Given the description of an element on the screen output the (x, y) to click on. 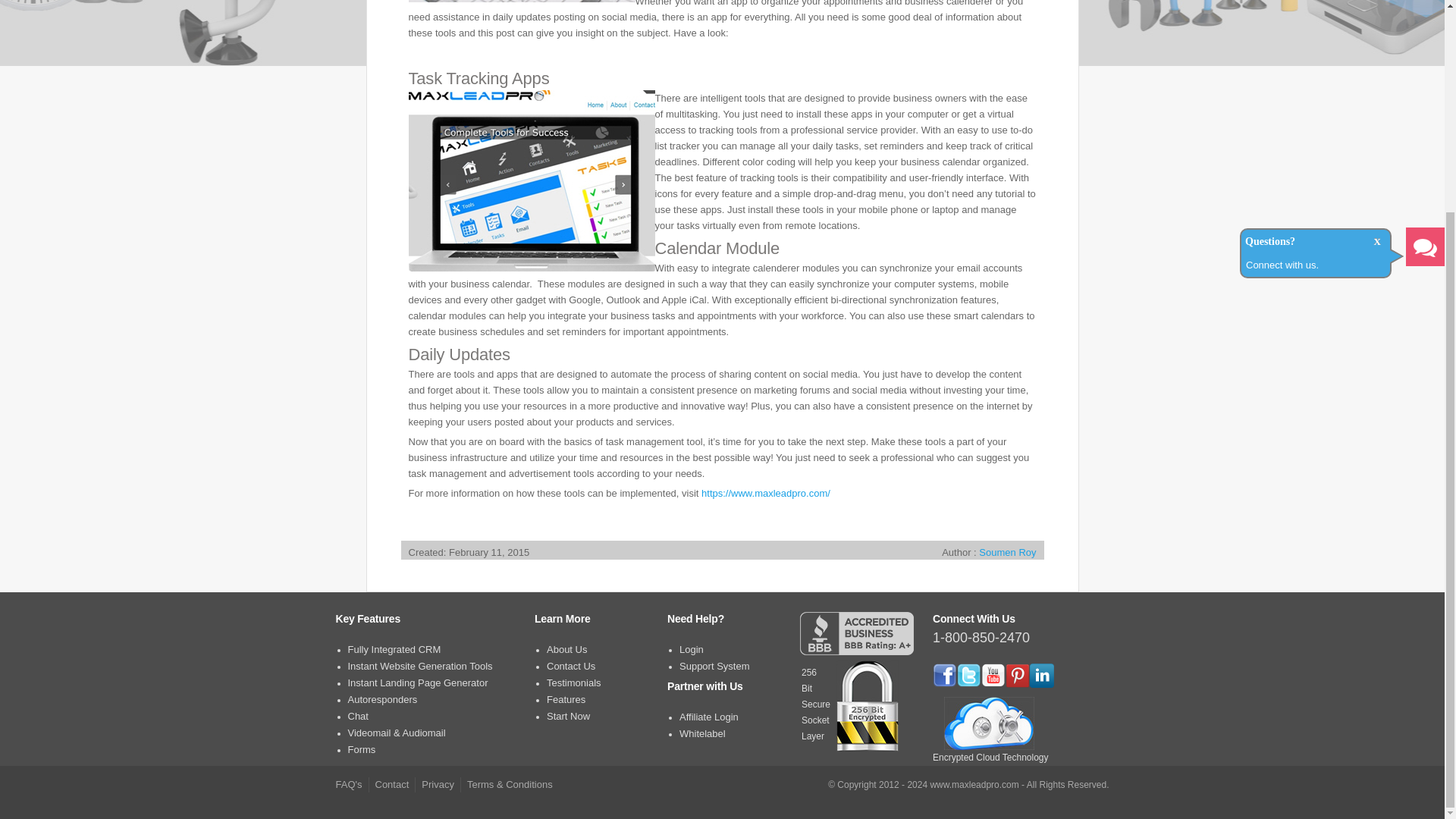
Instant Website Generation Tools (419, 665)
Forms (361, 749)
Chat (357, 715)
About Us (566, 649)
Fully Integrated CRM (394, 649)
Instant Landing Page Generator (417, 682)
Autoresponders (381, 699)
Contact Us (571, 665)
Soumen Roy (1006, 552)
